Given the description of an element on the screen output the (x, y) to click on. 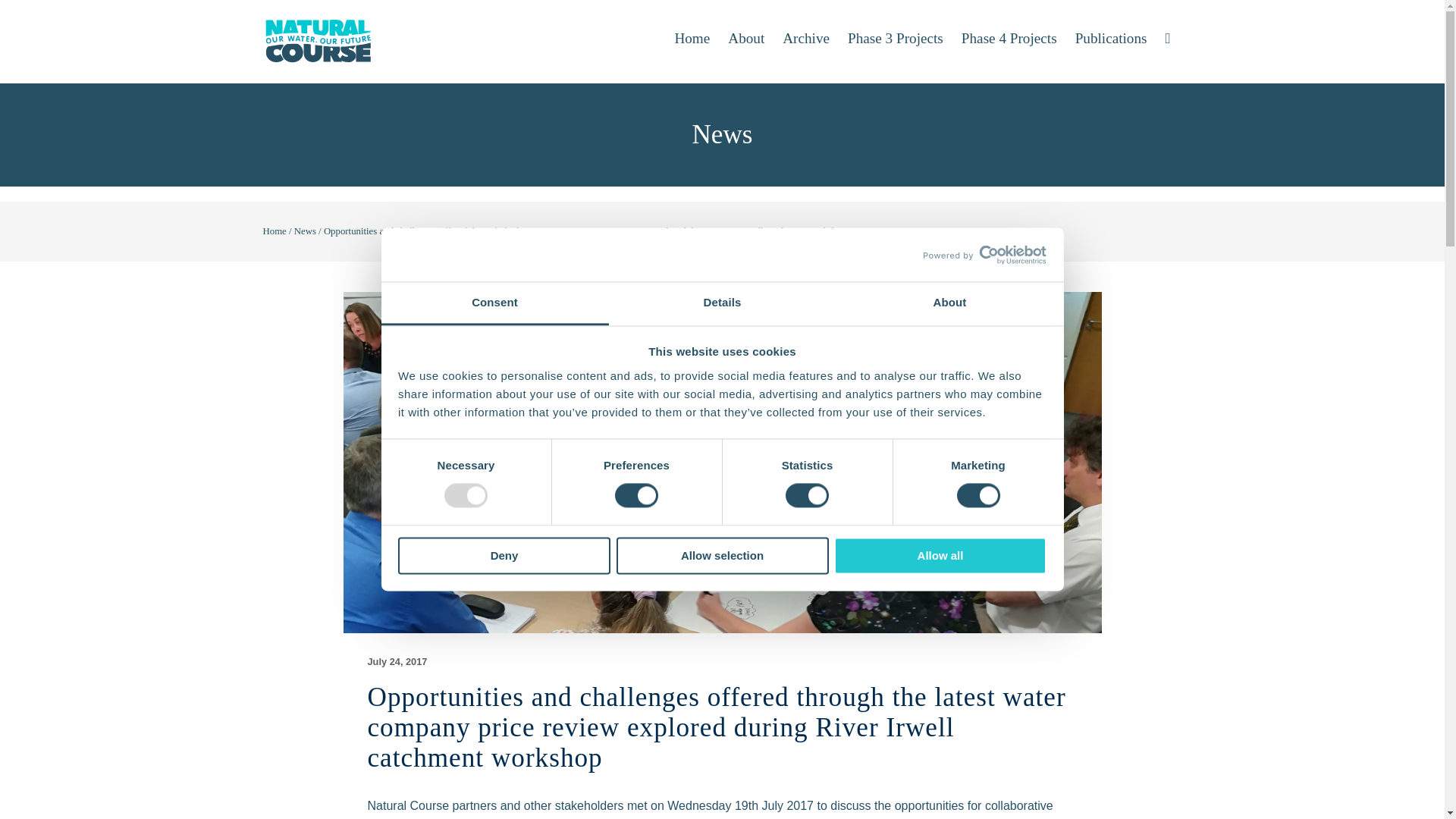
Allow all (940, 555)
Allow selection (721, 555)
About (948, 303)
Consent (494, 303)
Details (721, 303)
Skip to site navigation (27, 26)
Deny (503, 555)
